Given the description of an element on the screen output the (x, y) to click on. 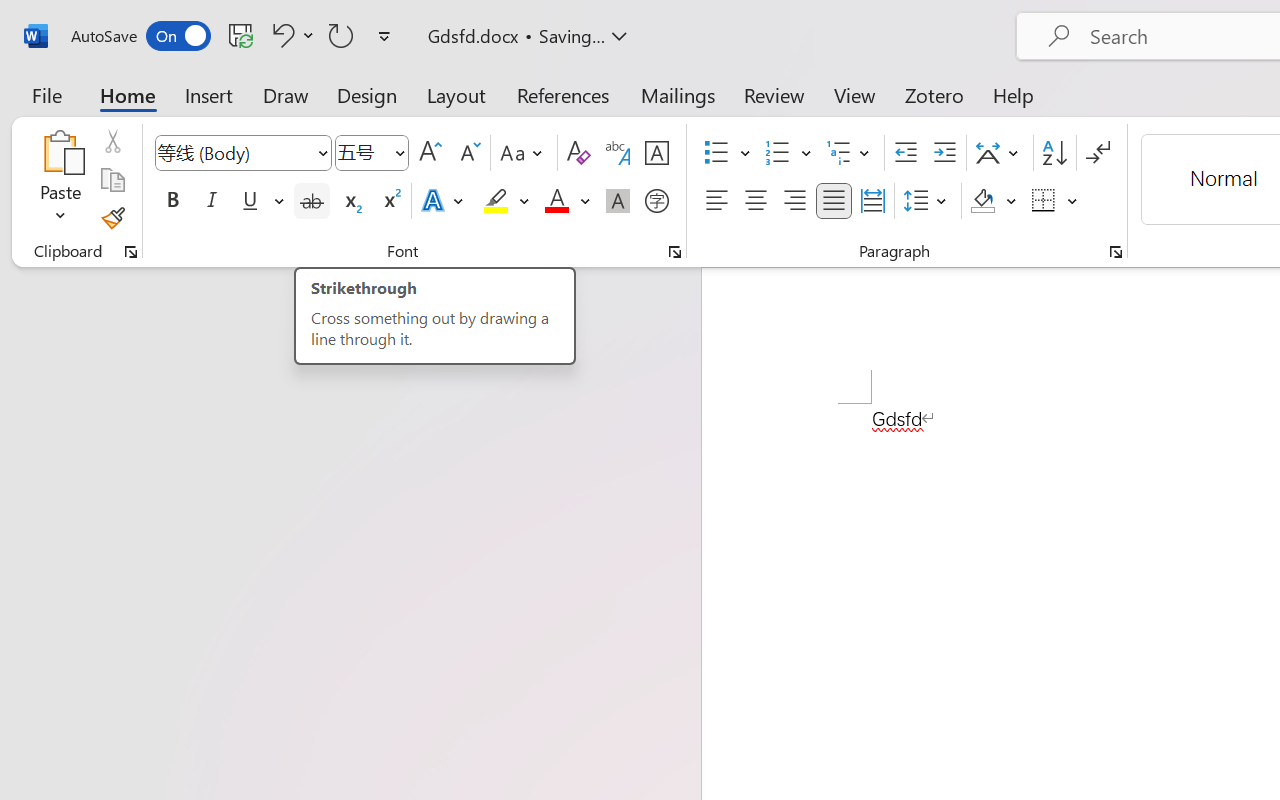
Justify (834, 201)
Distributed (872, 201)
Shrink Font (468, 153)
Format Painter (112, 218)
Enclose Characters... (656, 201)
Asian Layout (1000, 153)
Multilevel List (850, 153)
Cut (112, 141)
Align Left (716, 201)
Can't Repeat (341, 35)
